Given the description of an element on the screen output the (x, y) to click on. 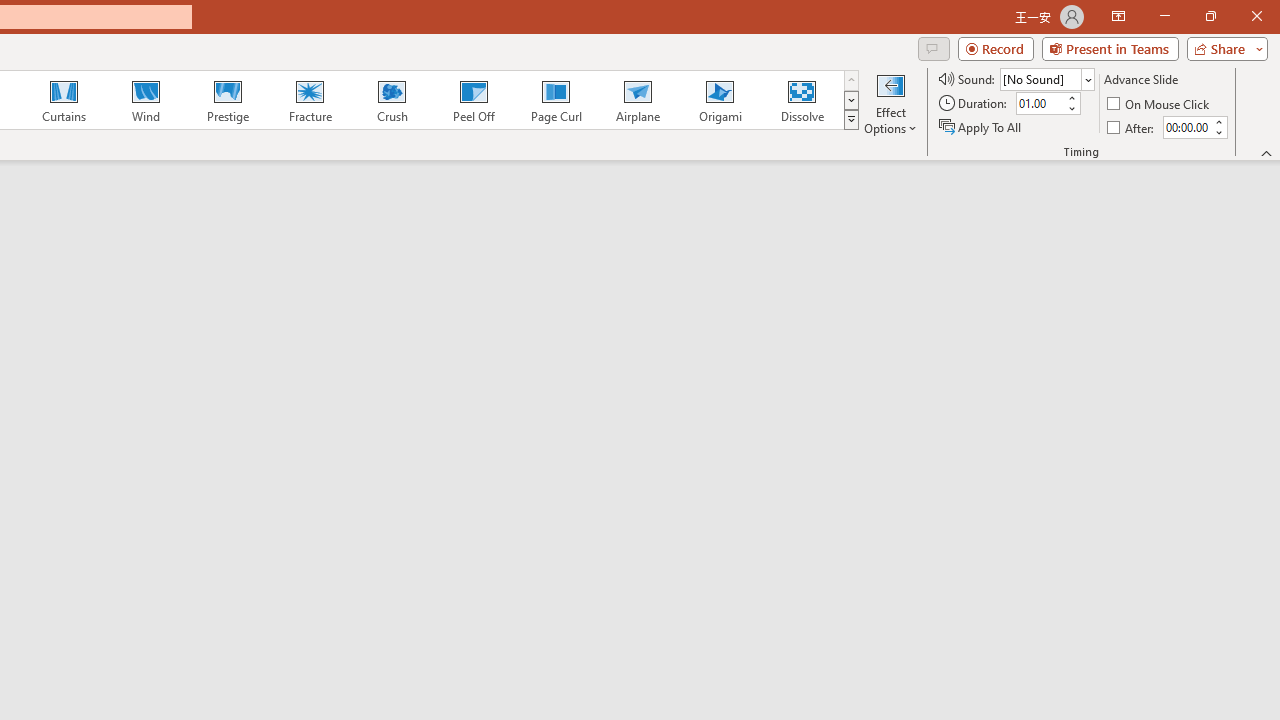
Crush (391, 100)
Apply To All (981, 126)
Page Curl (555, 100)
Prestige (227, 100)
Dissolve (802, 100)
Curtains (63, 100)
Airplane (637, 100)
Fracture (309, 100)
Peel Off (473, 100)
